Given the description of an element on the screen output the (x, y) to click on. 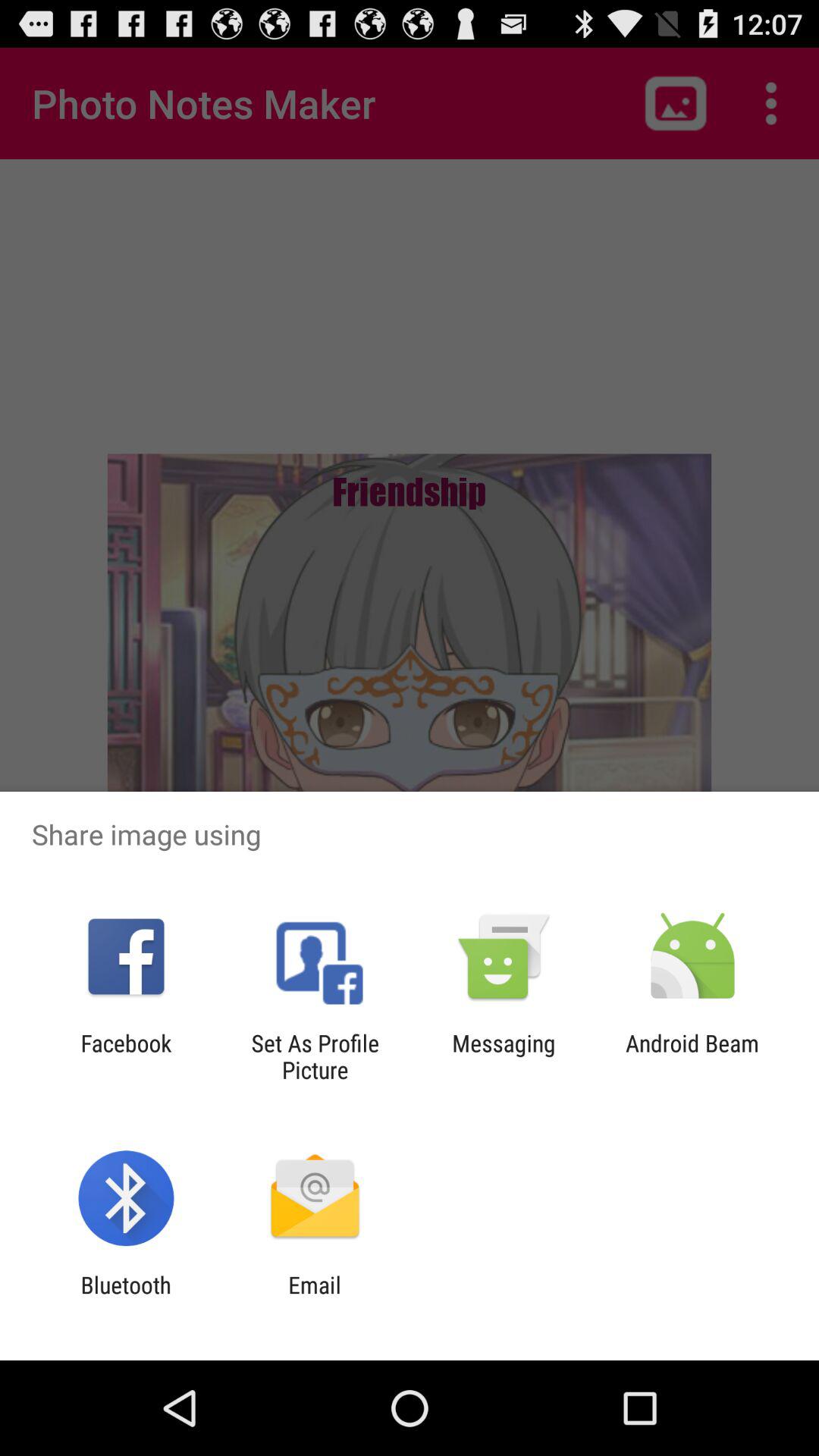
open icon next to facebook (314, 1056)
